Given the description of an element on the screen output the (x, y) to click on. 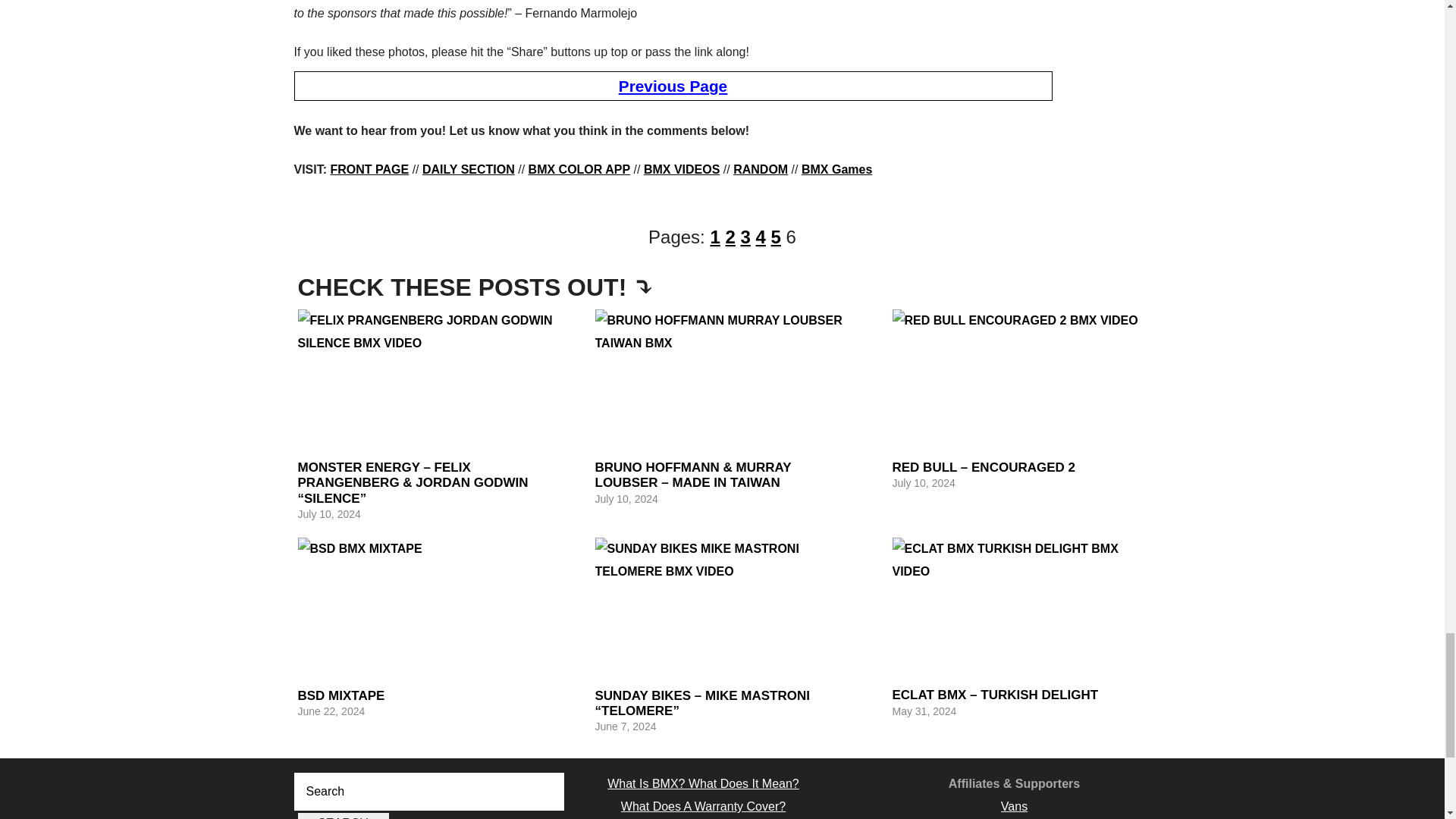
Search (342, 816)
Search (342, 816)
